Given the description of an element on the screen output the (x, y) to click on. 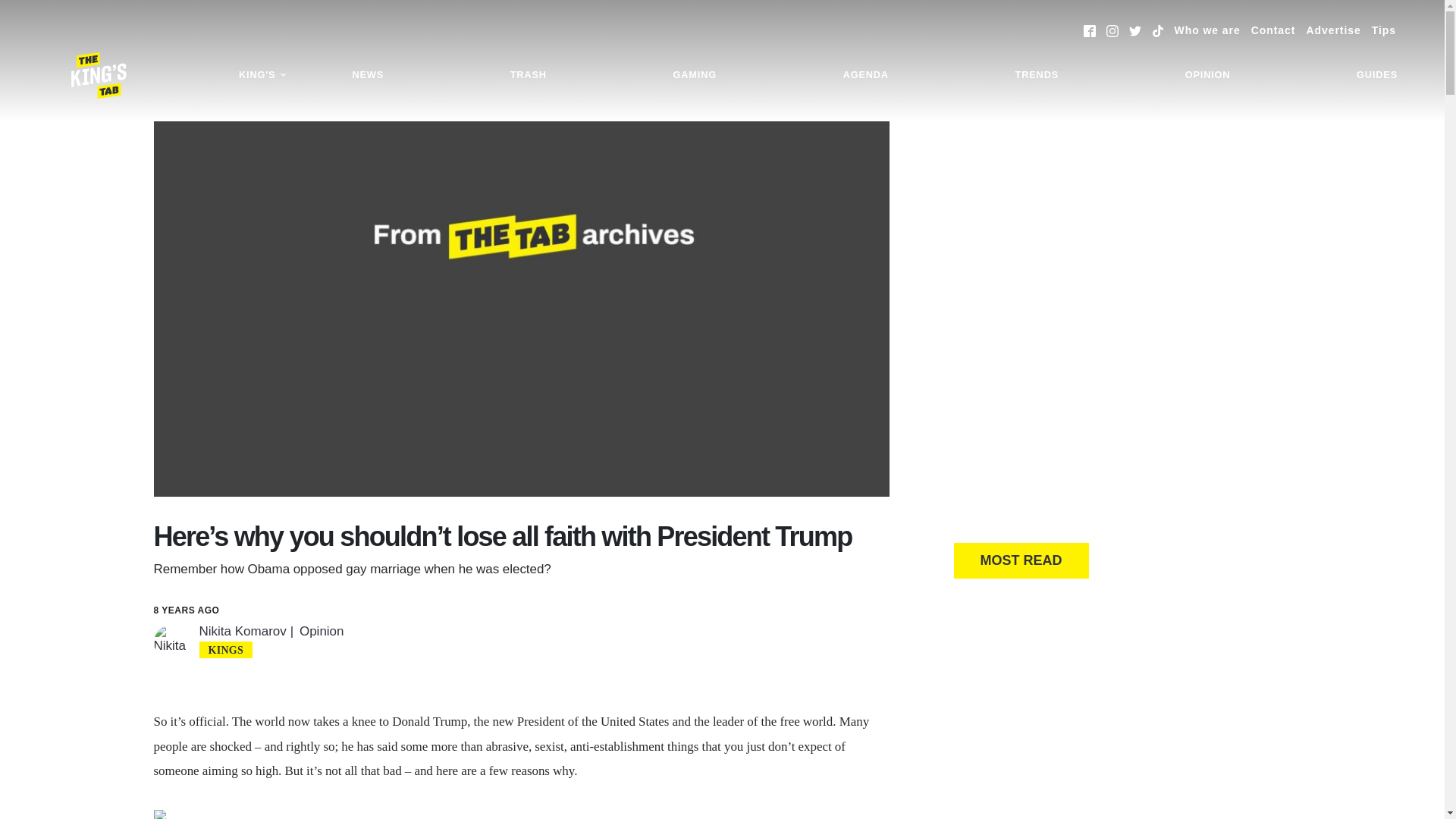
Who we are (1207, 29)
Advertise (1332, 29)
AGENDA (865, 75)
TRENDS (1037, 75)
KING'S (262, 75)
Tips (1383, 29)
GAMING (693, 75)
Contact (1272, 29)
OPINION (1207, 75)
TRASH (528, 75)
